Given the description of an element on the screen output the (x, y) to click on. 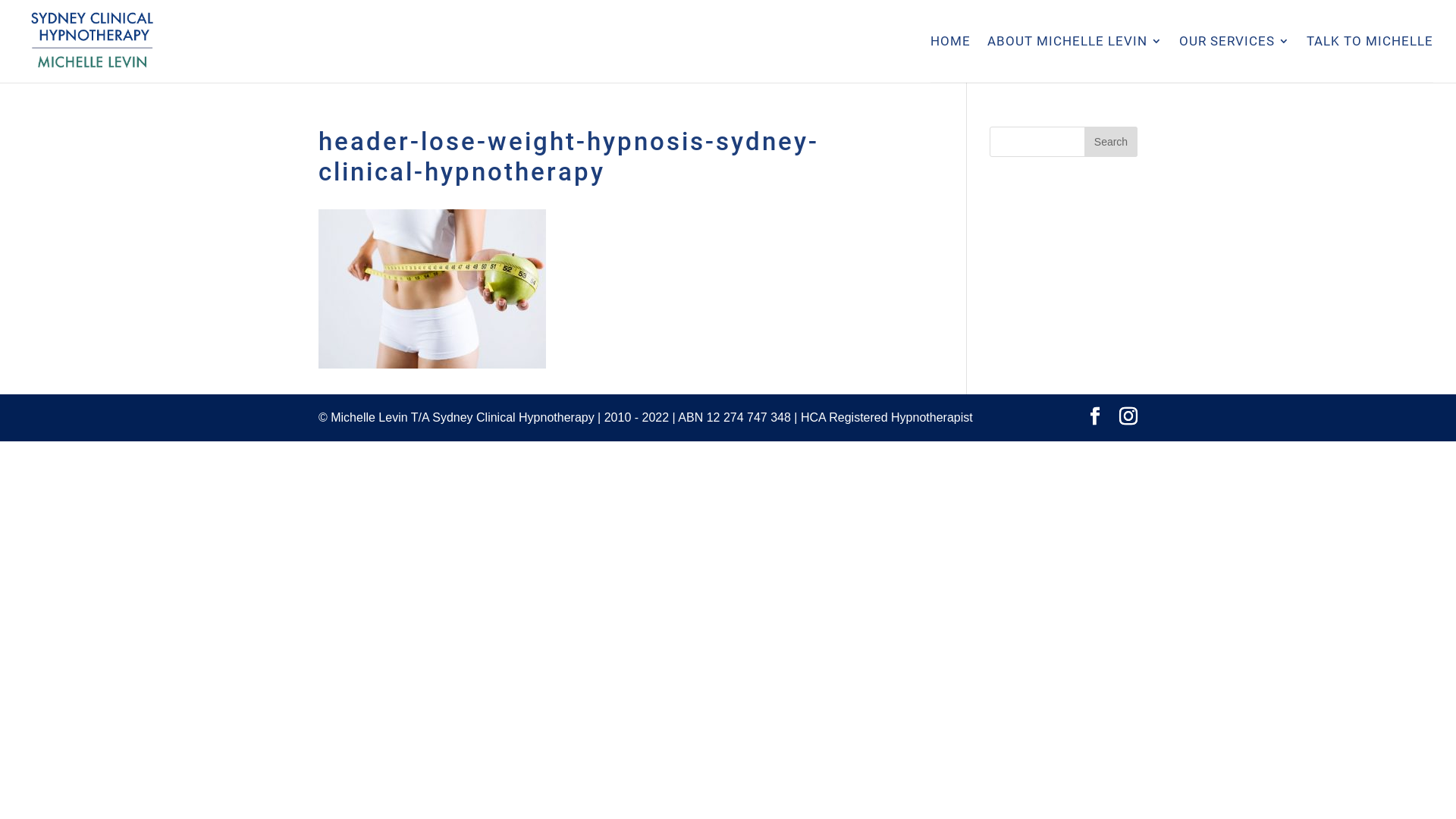
TALK TO MICHELLE Element type: text (1369, 58)
OUR SERVICES Element type: text (1234, 58)
Search Element type: text (1110, 141)
ABOUT MICHELLE LEVIN Element type: text (1074, 58)
HOME Element type: text (950, 58)
